Given the description of an element on the screen output the (x, y) to click on. 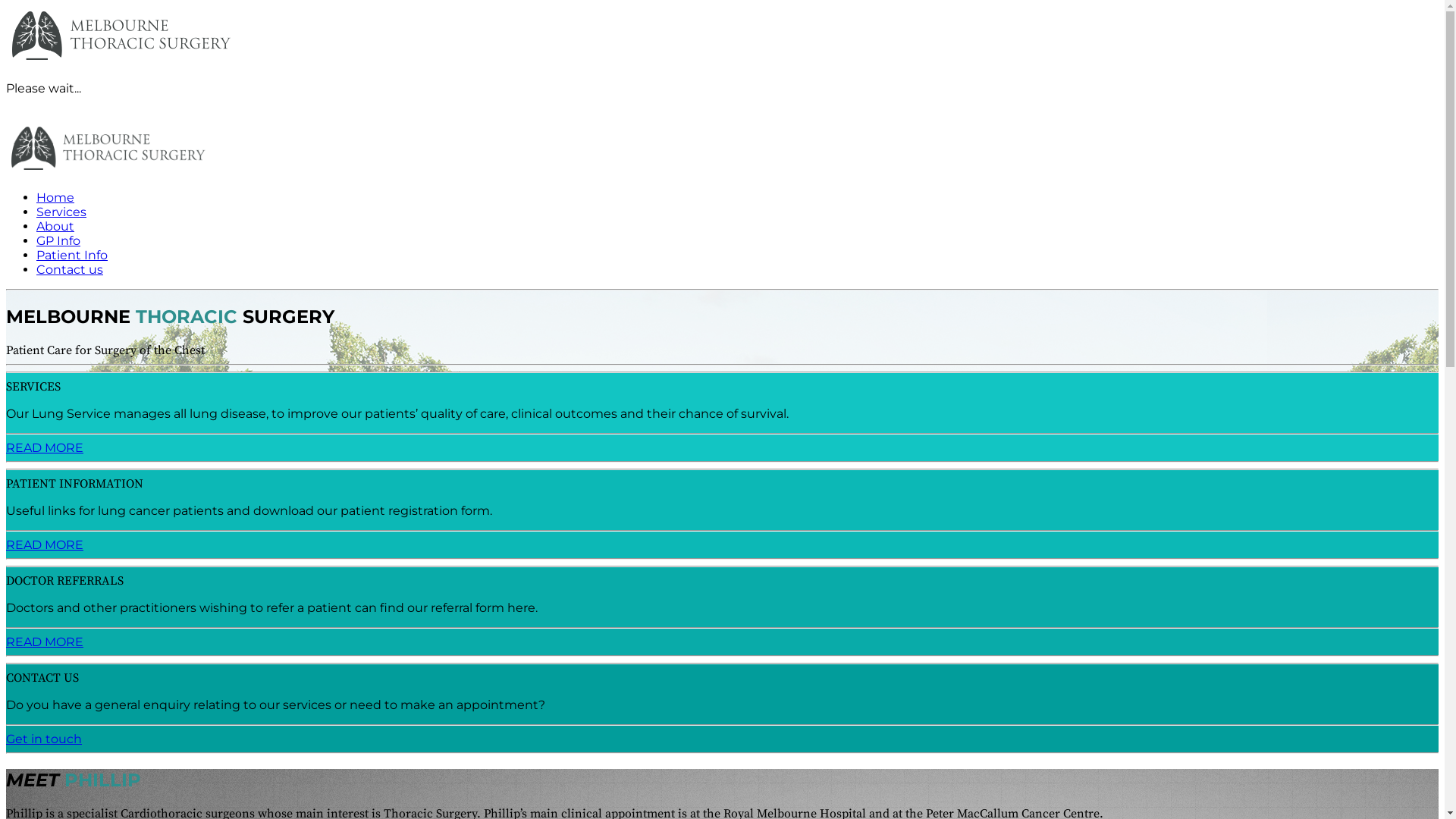
READ MORE Element type: text (44, 641)
About Element type: text (55, 226)
Home Element type: text (55, 197)
READ MORE Element type: text (44, 544)
Patient Info Element type: text (71, 254)
Contact us Element type: text (69, 269)
Get in touch Element type: text (43, 738)
Services Element type: text (61, 211)
GP Info Element type: text (58, 240)
READ MORE Element type: text (44, 447)
